Given the description of an element on the screen output the (x, y) to click on. 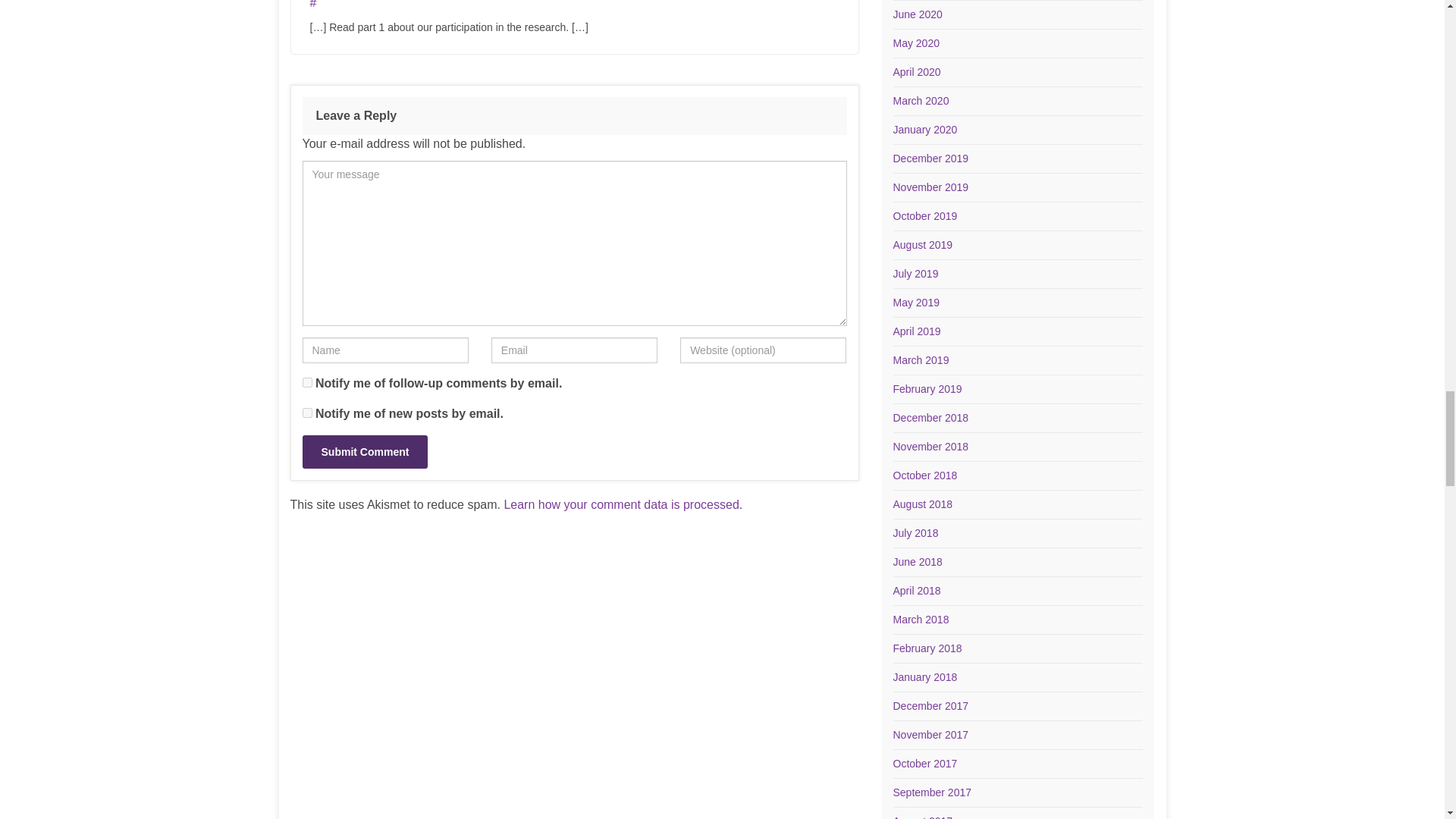
subscribe (306, 382)
subscribe (306, 412)
Submit Comment (364, 451)
